Given the description of an element on the screen output the (x, y) to click on. 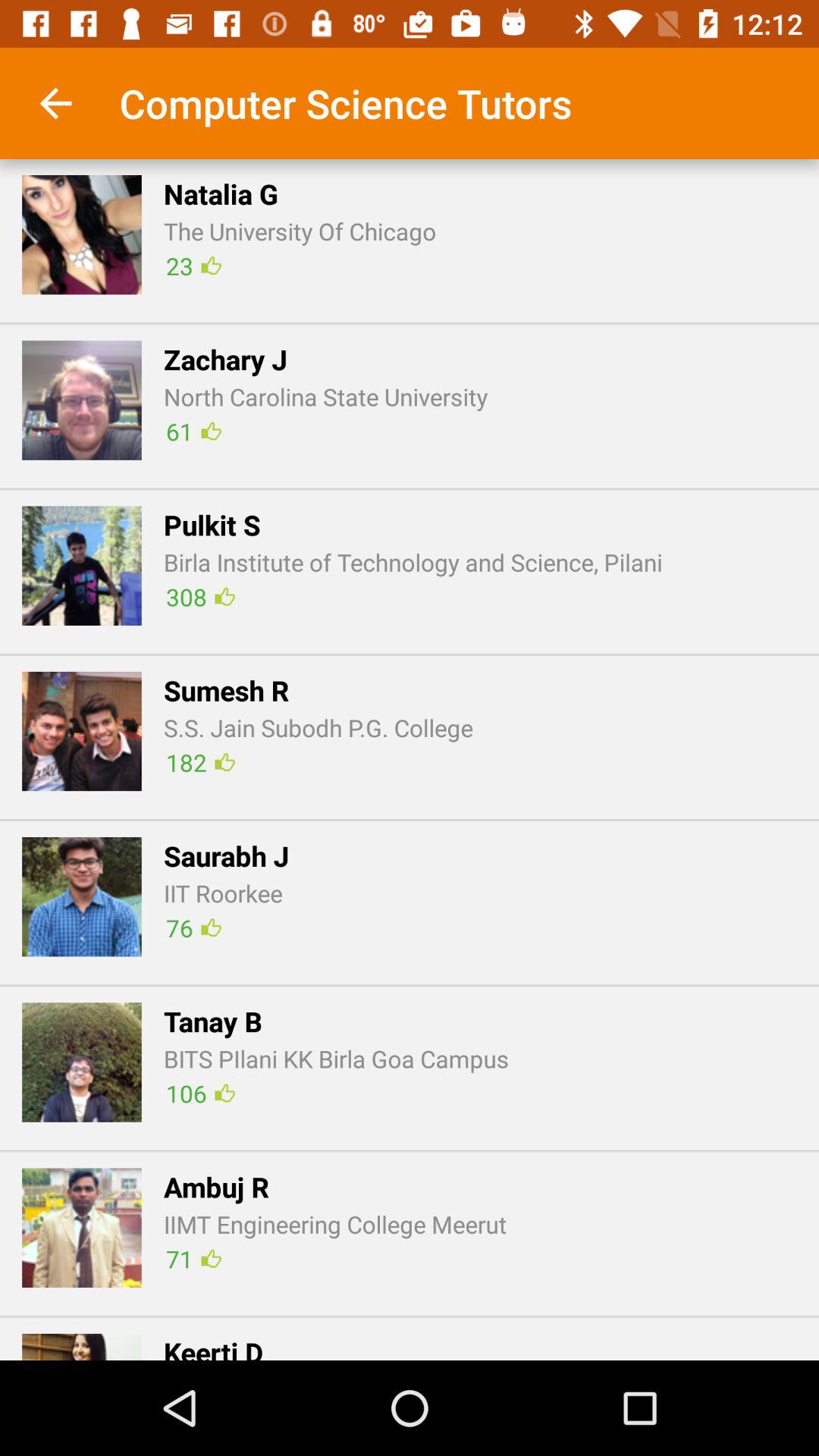
select icon below birla institute of (200, 596)
